Given the description of an element on the screen output the (x, y) to click on. 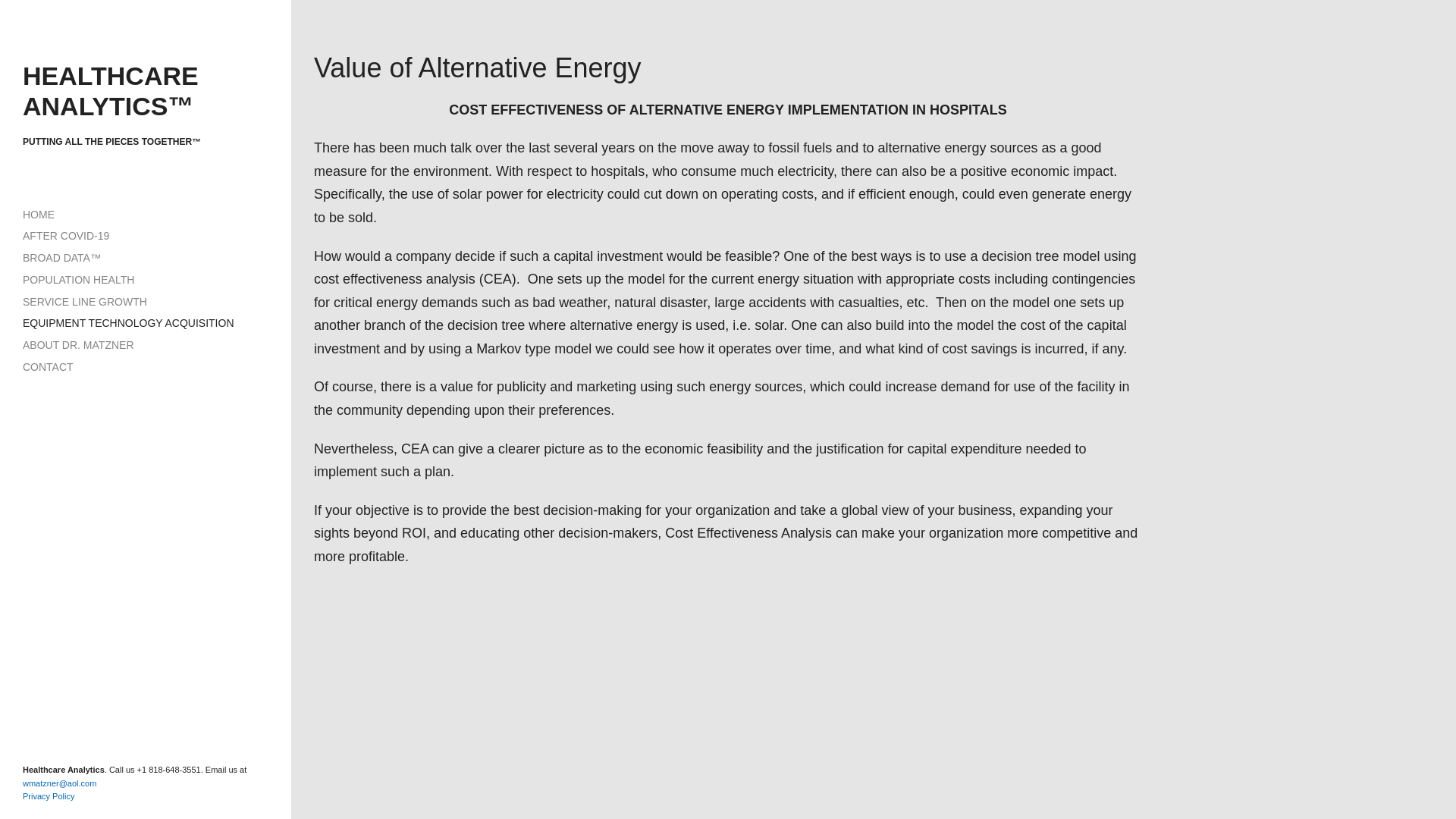
POPULATION HEALTH (78, 279)
EQUIPMENT TECHNOLOGY ACQUISITION (128, 322)
HOME (39, 214)
CONTACT (48, 367)
SERVICE LINE GROWTH (85, 301)
AFTER COVID-19 (66, 235)
ABOUT DR. MATZNER (78, 345)
HEALTHCARE  (114, 75)
Privacy Policy (48, 795)
